Given the description of an element on the screen output the (x, y) to click on. 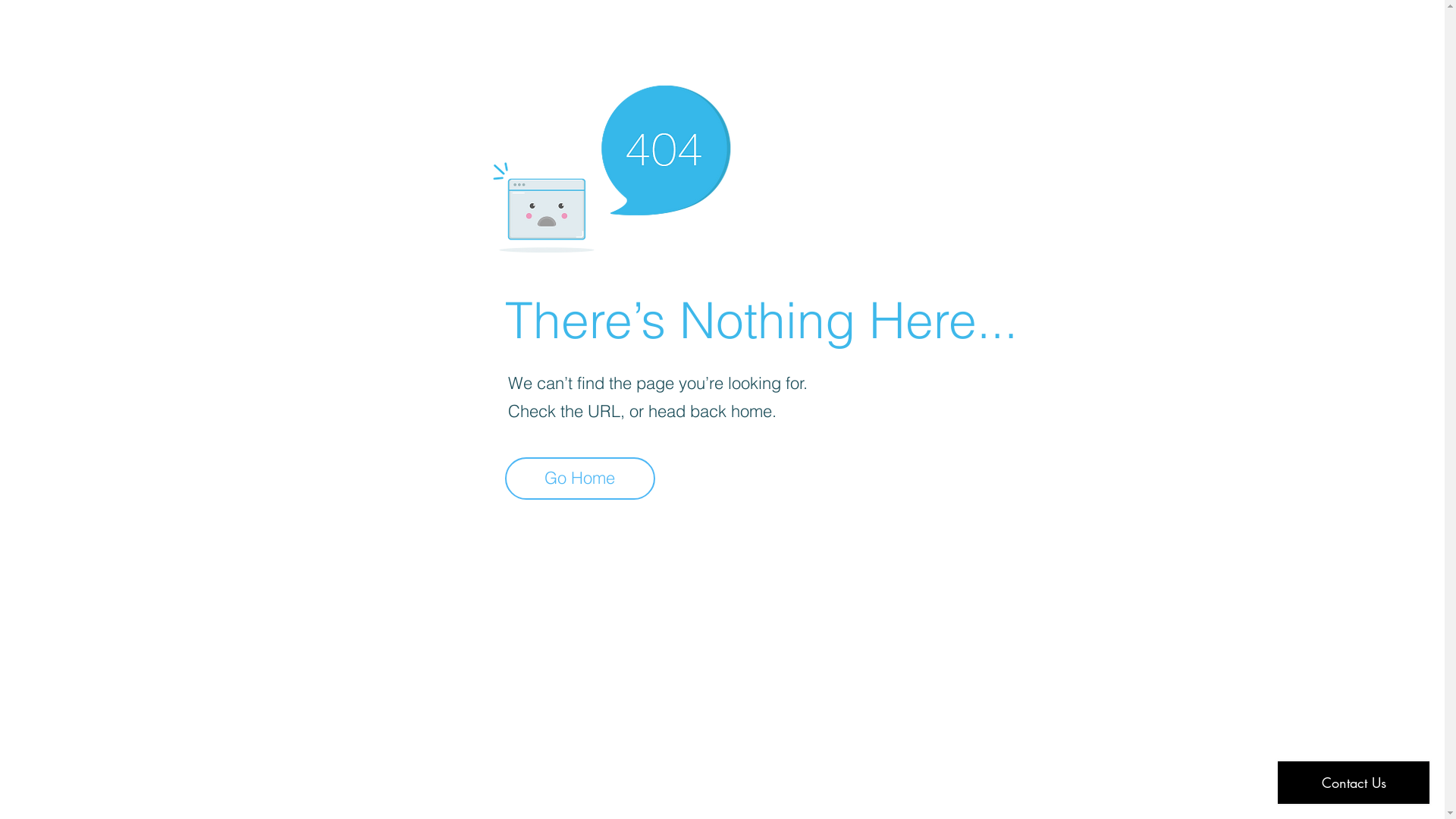
404-icon_2.png Element type: hover (610, 164)
Go Home Element type: text (580, 478)
